Given the description of an element on the screen output the (x, y) to click on. 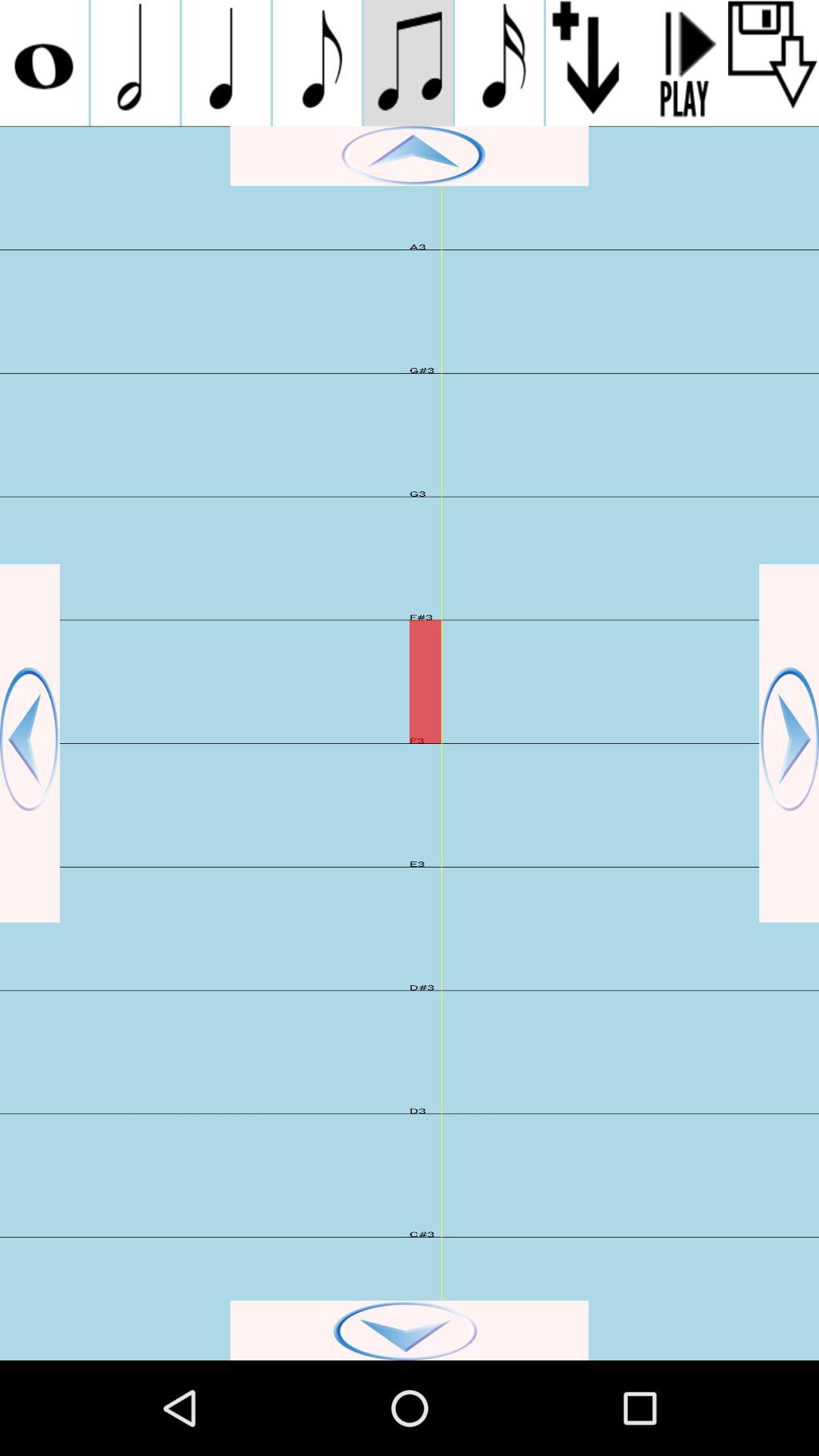
add music notes (499, 63)
